Given the description of an element on the screen output the (x, y) to click on. 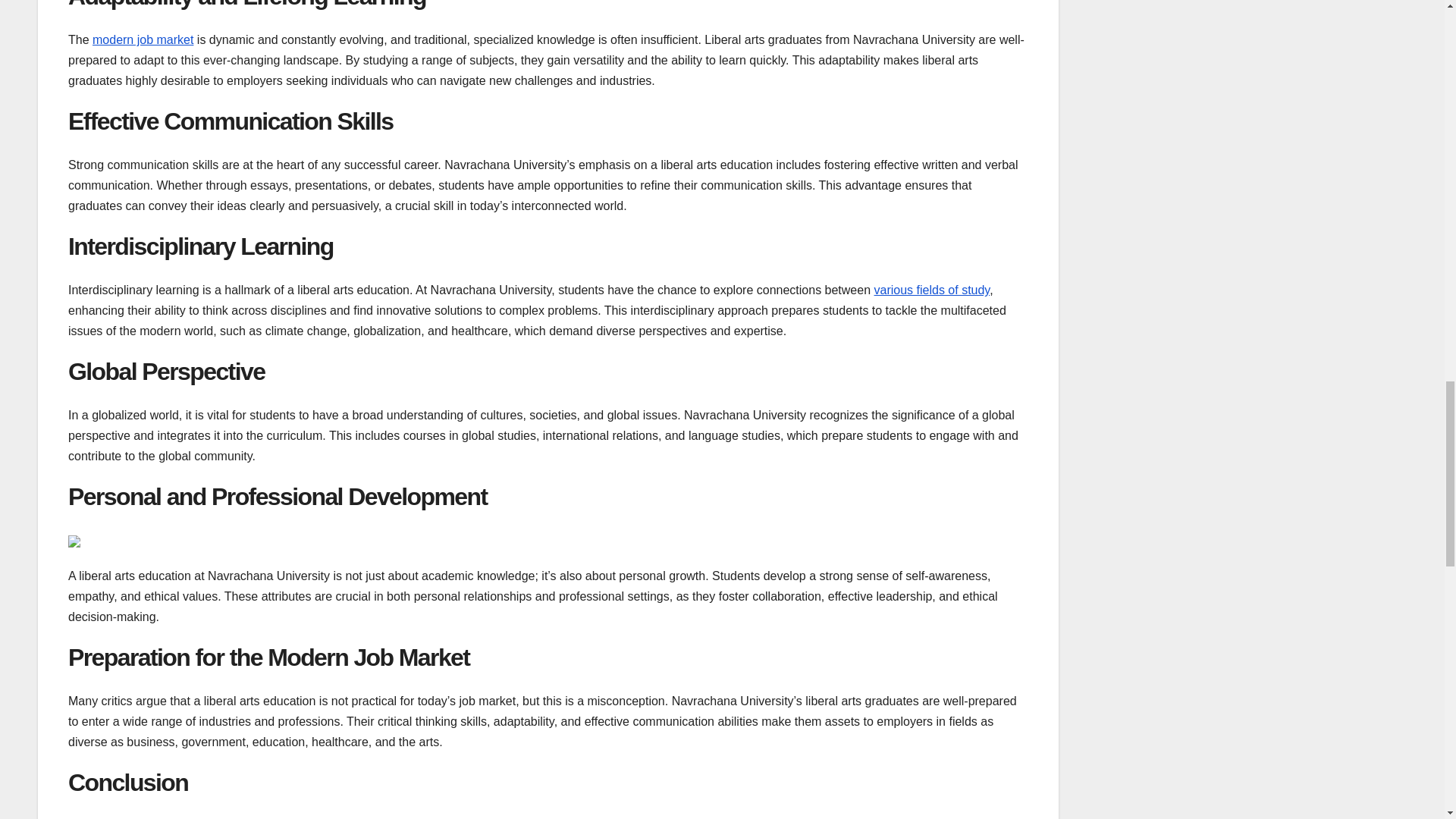
various fields of study (932, 289)
modern job market (143, 39)
